Given the description of an element on the screen output the (x, y) to click on. 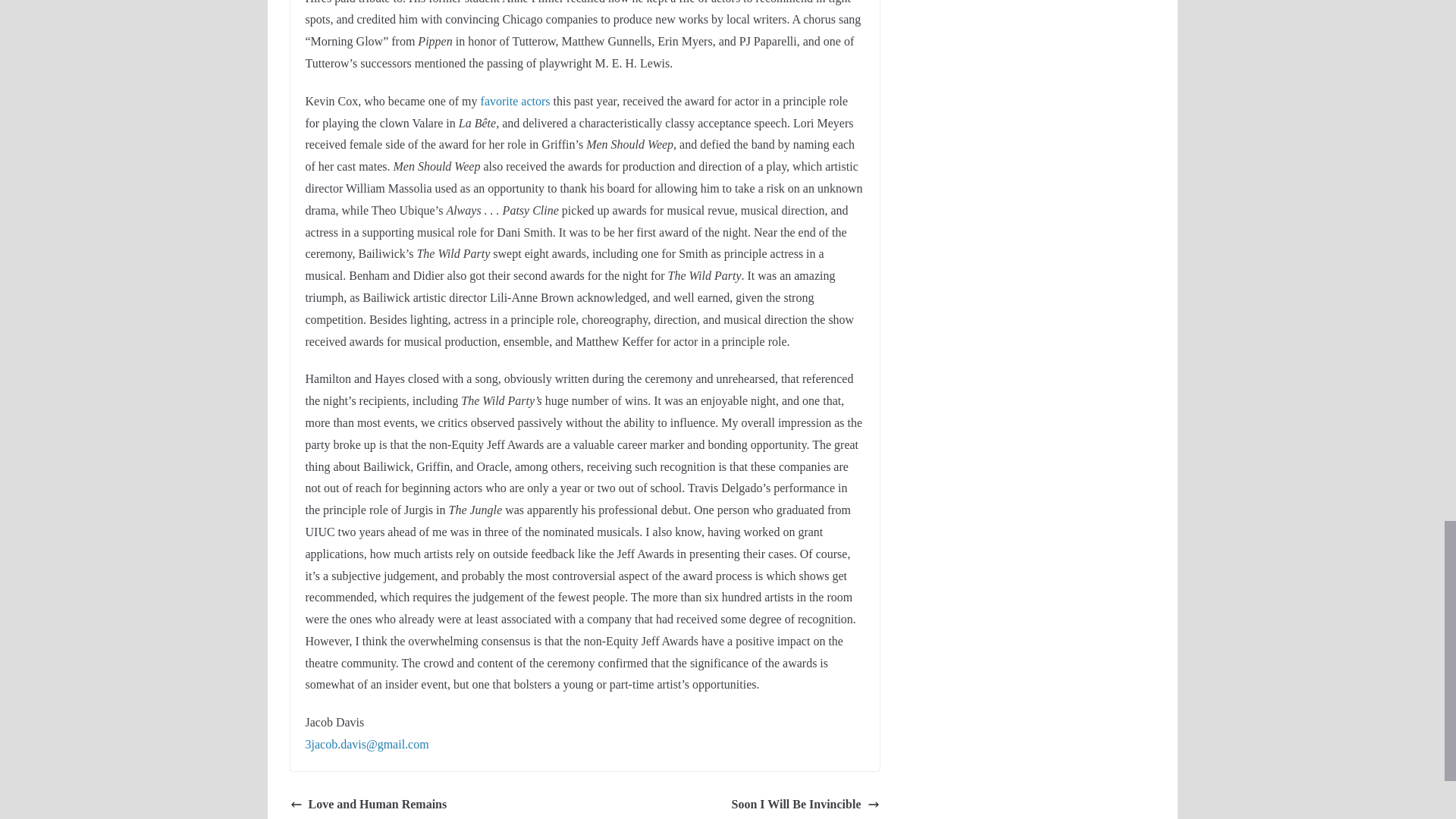
favorite (499, 101)
actors (535, 101)
Love and Human Remains (367, 804)
Soon I Will Be Invincible (804, 804)
